Given the description of an element on the screen output the (x, y) to click on. 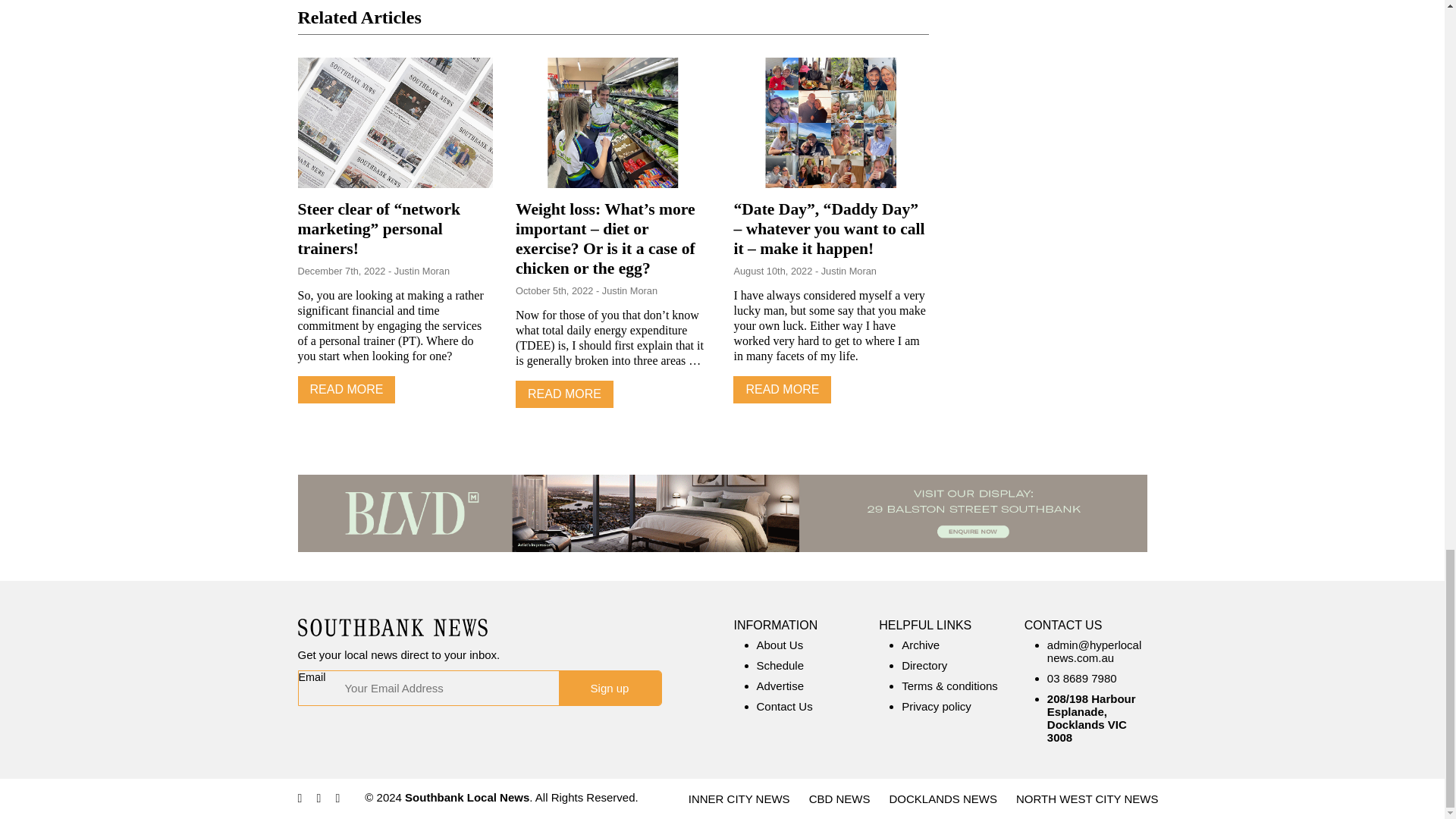
READ MORE (345, 389)
Sign up (609, 687)
READ MORE (563, 393)
READ MORE (782, 389)
About Us (780, 644)
Schedule (781, 665)
